Given the description of an element on the screen output the (x, y) to click on. 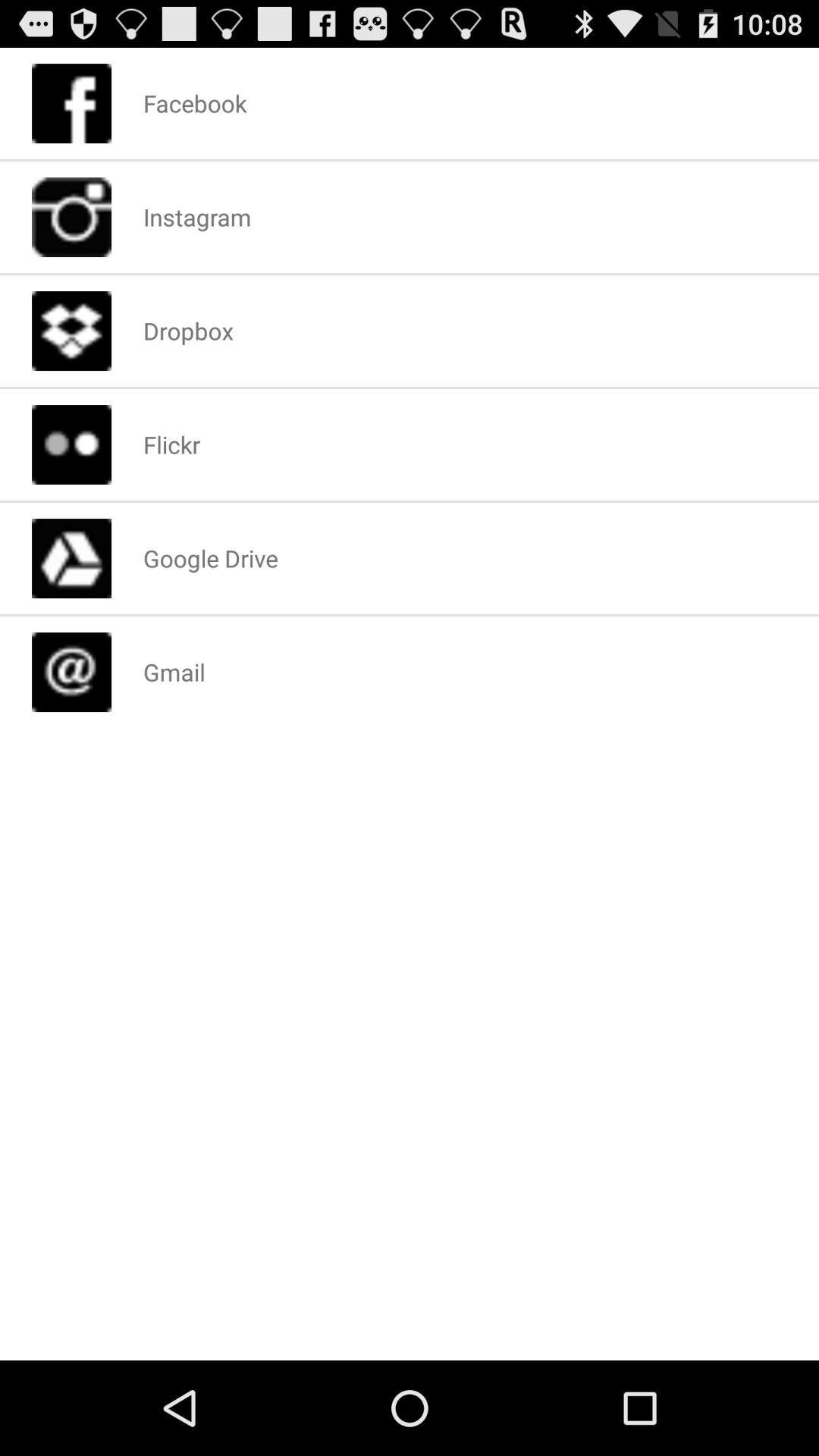
turn on facebook app (194, 103)
